Given the description of an element on the screen output the (x, y) to click on. 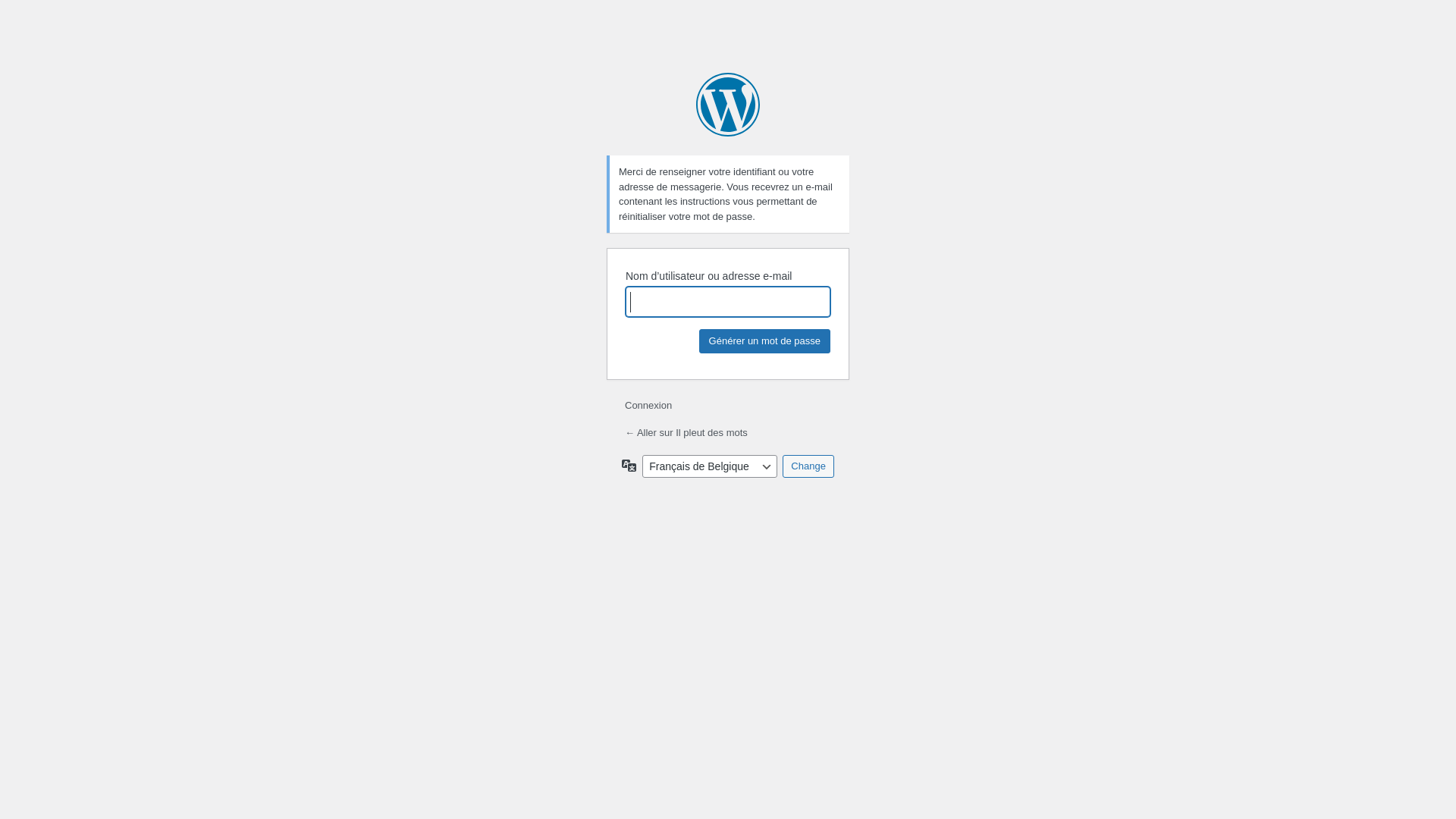
Connexion Element type: text (647, 405)
Change Element type: text (808, 466)
